Given the description of an element on the screen output the (x, y) to click on. 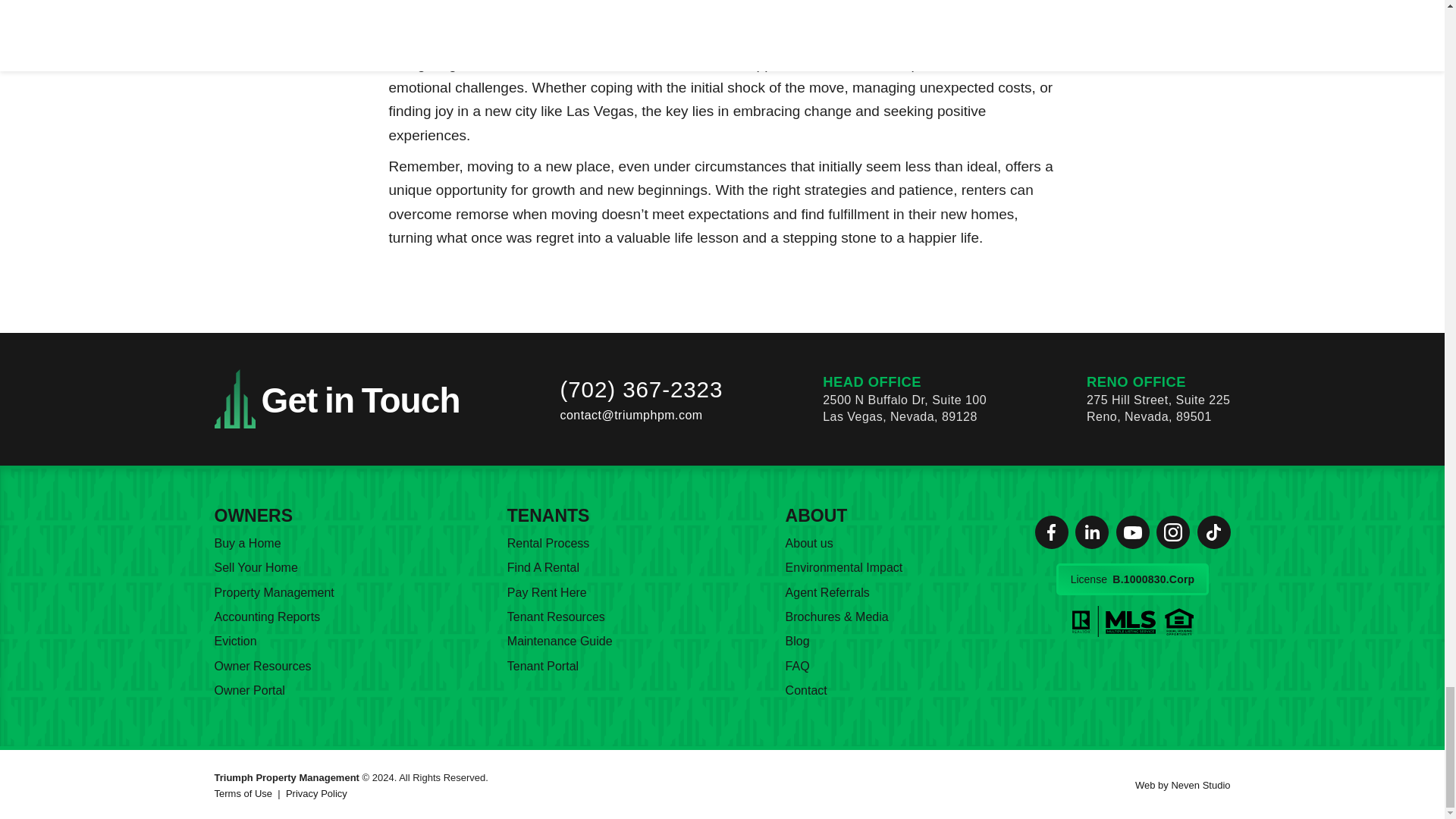
Triumph Property Management on Instagram (1213, 531)
OWNERS (253, 515)
Triumph Property Management on YouTube (1133, 531)
Triumph Property Management on Facebook (1050, 531)
Triumph Property Management on Linkedin (1091, 531)
Triumph Property Management on Instagram (1172, 531)
